Given the description of an element on the screen output the (x, y) to click on. 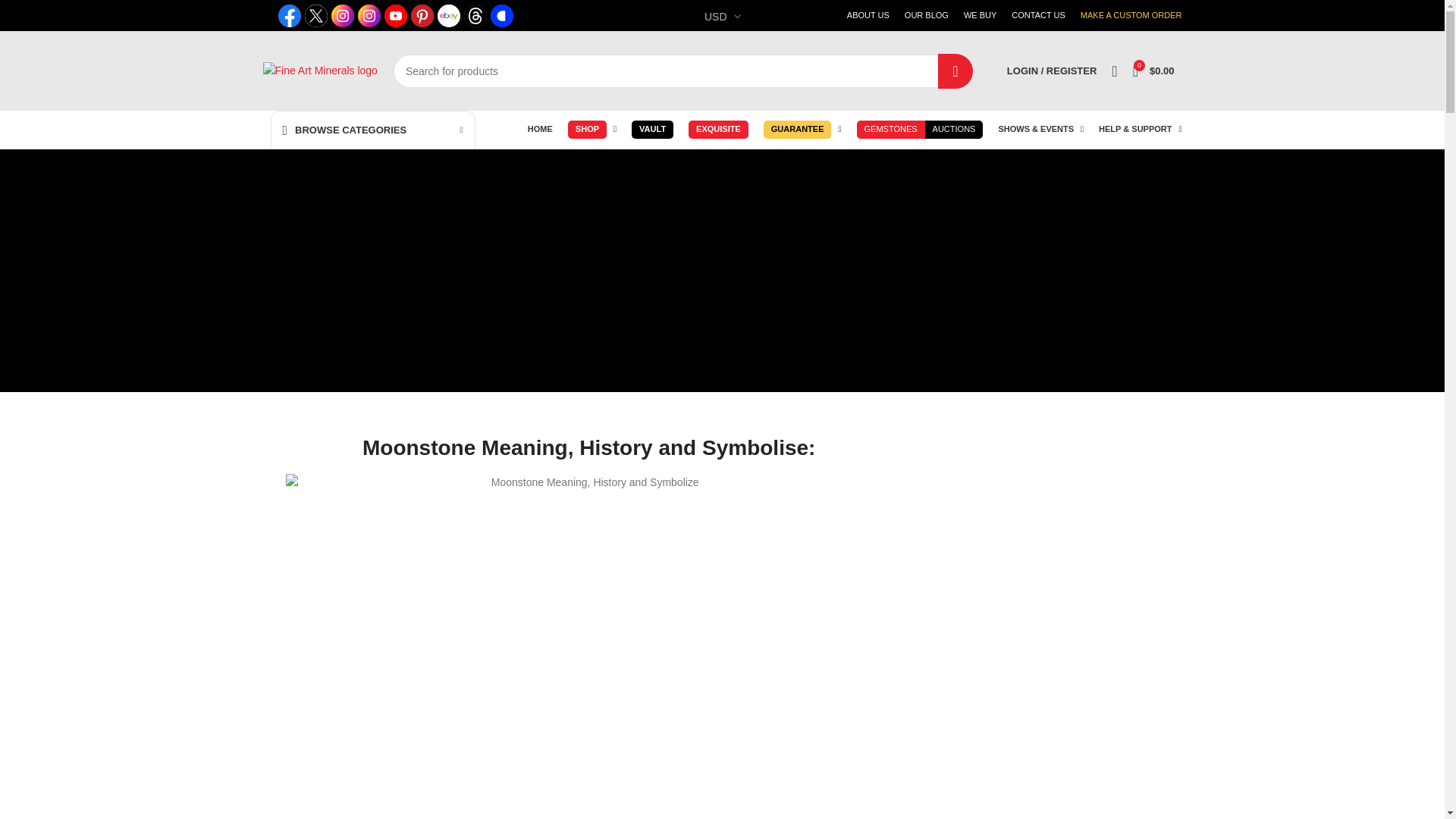
My account (1050, 71)
SEARCH (954, 70)
Search for products (682, 70)
WE BUY (979, 15)
OUR BLOG (926, 15)
CONTACT US (1038, 15)
ABOUT US (868, 15)
Shopping cart (1153, 71)
MAKE A CUSTOM ORDER (1131, 15)
